Given the description of an element on the screen output the (x, y) to click on. 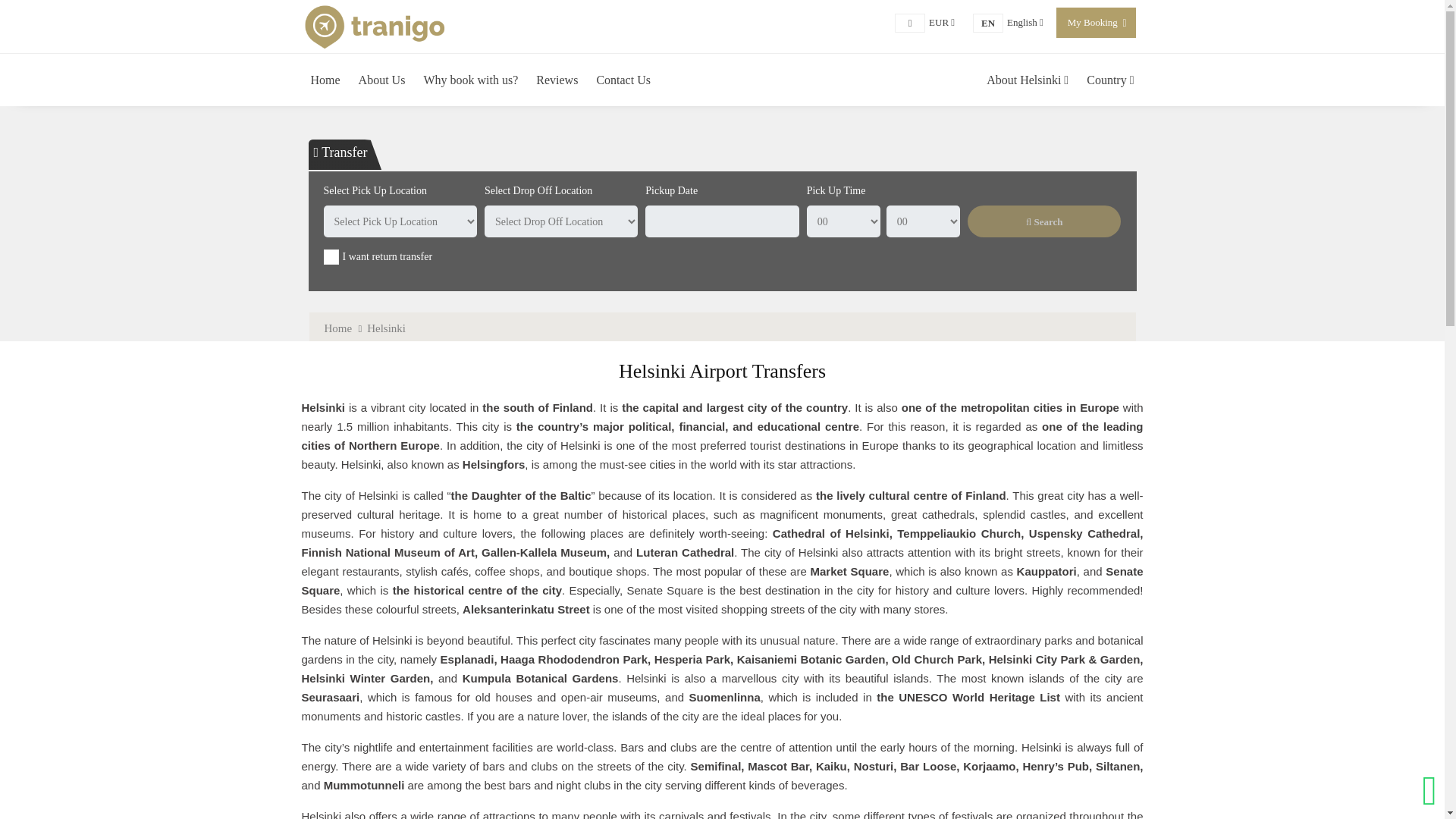
Home (325, 80)
Why book with us? (470, 80)
Reviews (556, 80)
About Us (382, 80)
Contact Us (622, 80)
EUR (941, 21)
My Booking (1092, 21)
Country (1025, 21)
